Given the description of an element on the screen output the (x, y) to click on. 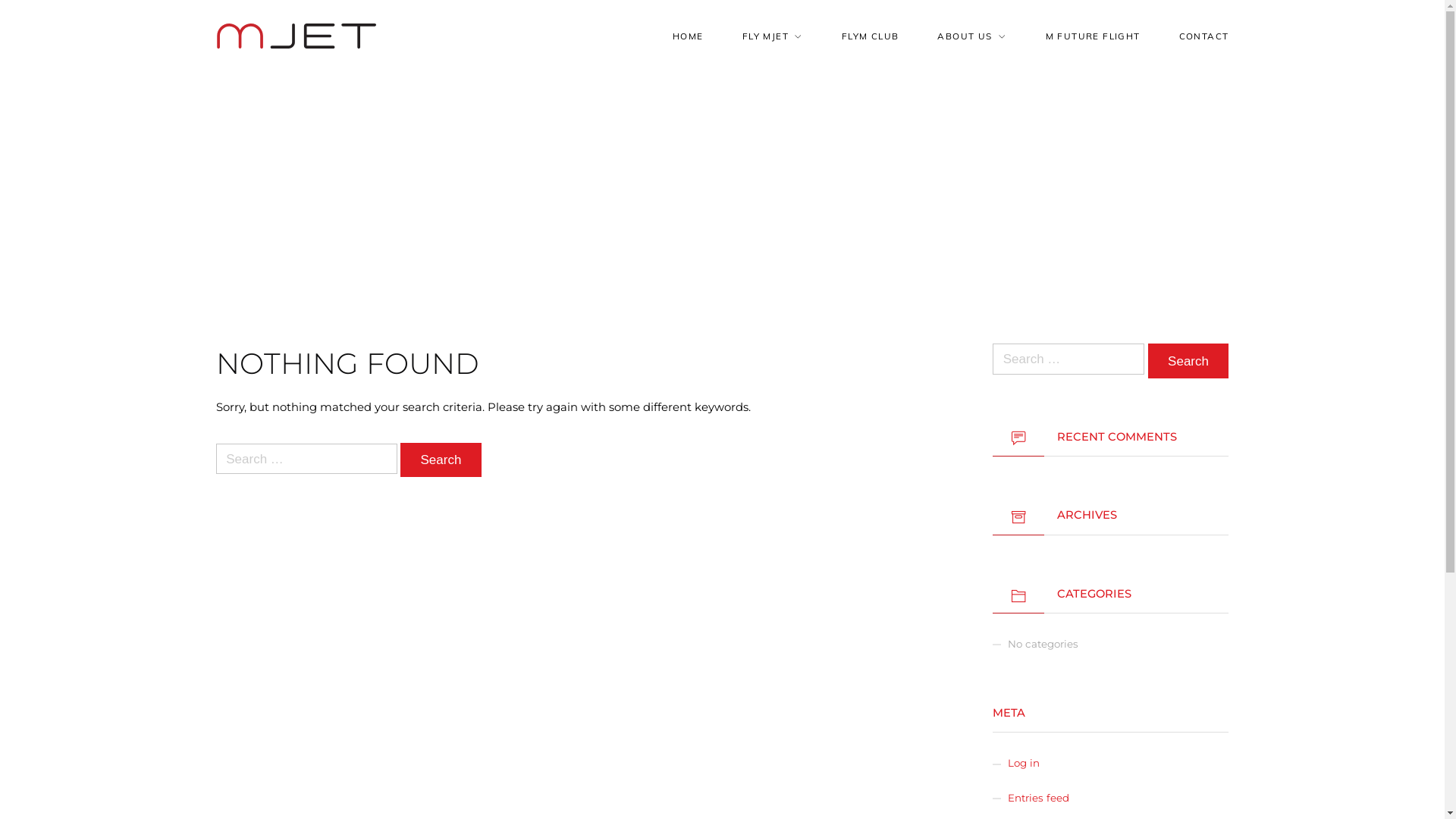
HOME Element type: text (687, 35)
Log in Element type: text (1023, 762)
FLYM CLUB Element type: text (870, 35)
CONTACT Element type: text (1204, 35)
ABOUT US Element type: text (971, 35)
Search Element type: text (440, 459)
M FUTURE FLIGHT Element type: text (1092, 35)
FLY MJET Element type: text (772, 35)
Search Element type: text (1188, 360)
Entries feed Element type: text (1038, 797)
